Given the description of an element on the screen output the (x, y) to click on. 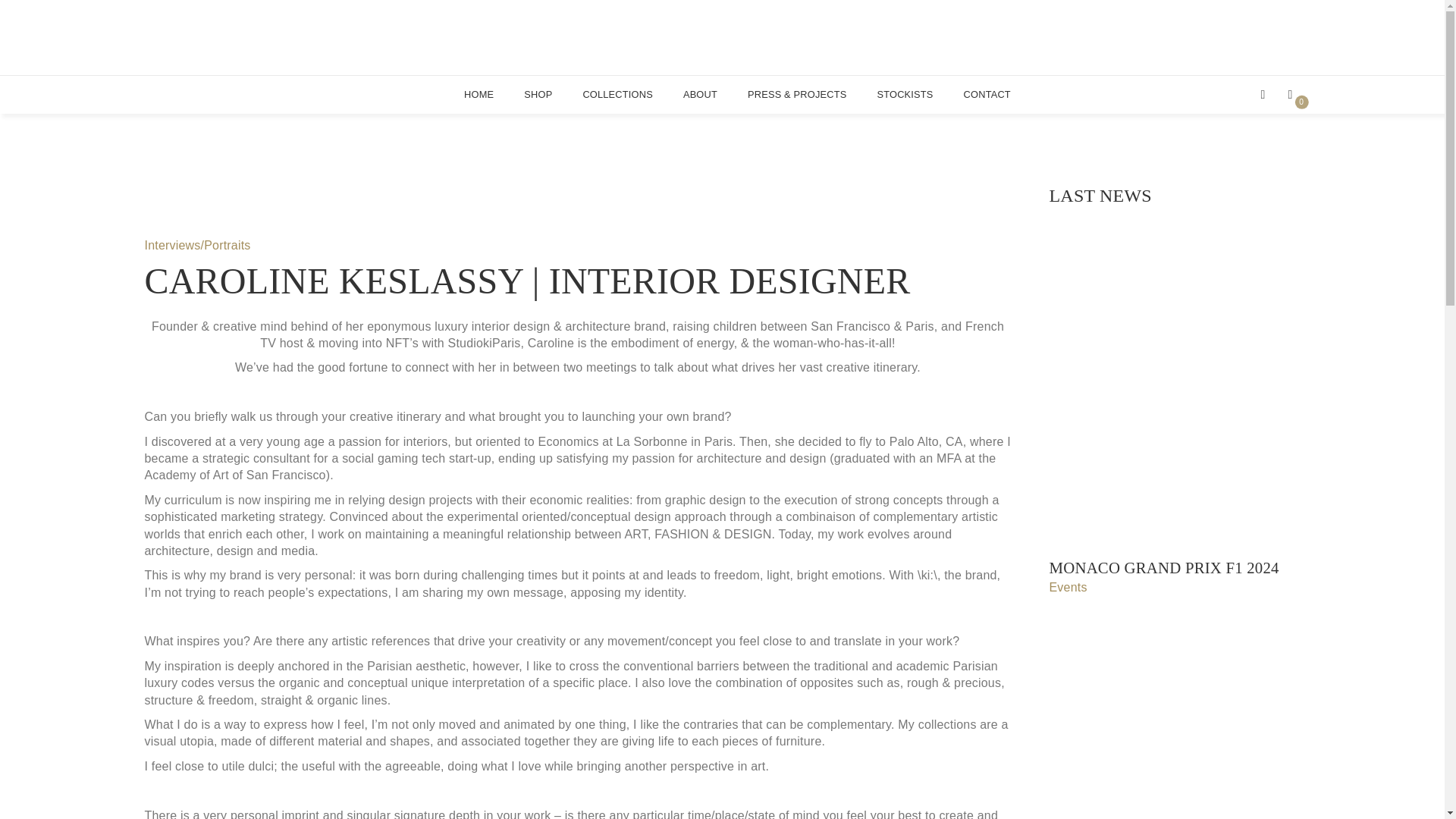
Account (1266, 94)
CONTACT (986, 94)
MONACO GRAND PRIX F1 2024 (1174, 568)
COLLECTIONS (617, 94)
Cart (1293, 94)
MY ACCOUNT (1293, 94)
ABOUT (1266, 94)
SHOP (699, 94)
STOCKISTS (537, 94)
Back to Home (904, 94)
HOME (722, 38)
Events (478, 94)
